Given the description of an element on the screen output the (x, y) to click on. 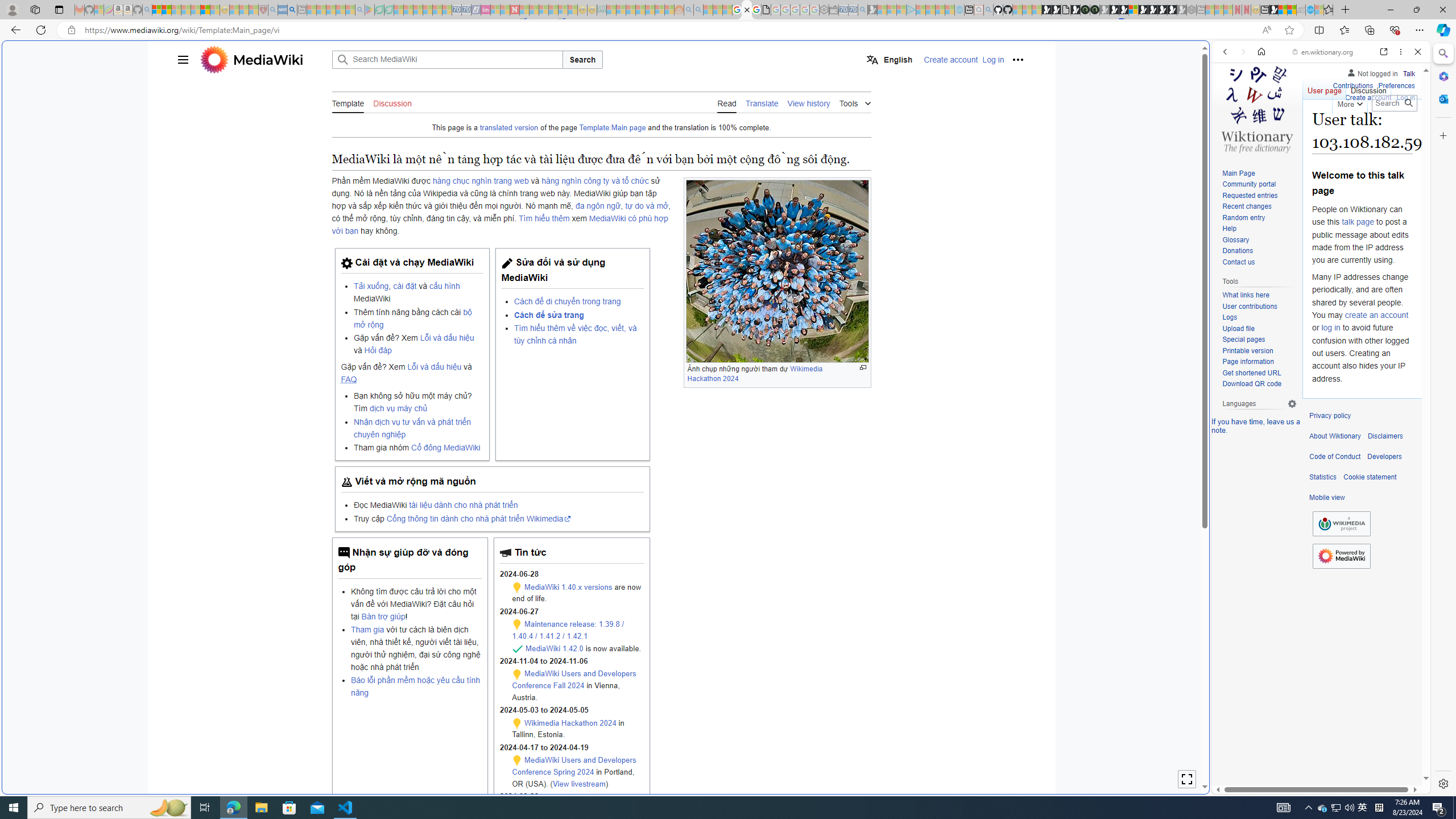
Download QR code (1251, 384)
Read (726, 102)
